Given the description of an element on the screen output the (x, y) to click on. 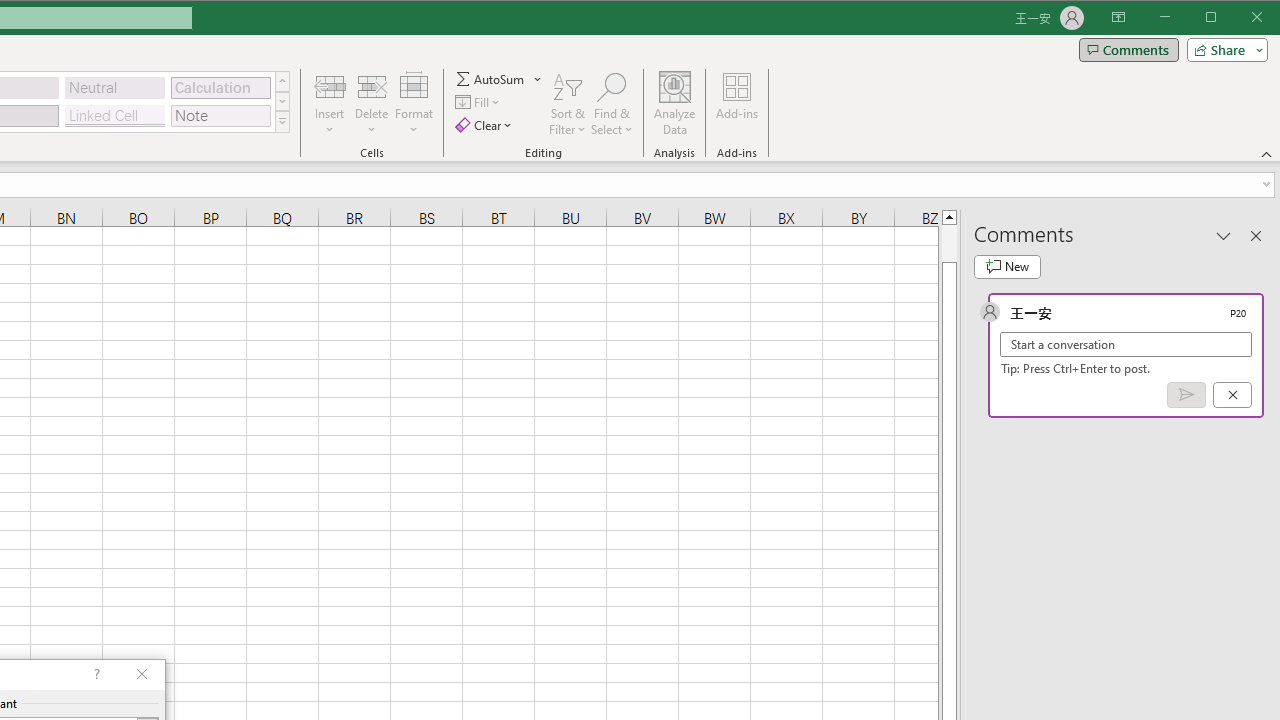
Delete Cells... (371, 86)
Start a conversation (1126, 344)
New comment (1007, 266)
Find & Select (612, 104)
Analyze Data (674, 104)
AutoSum (498, 78)
